Given the description of an element on the screen output the (x, y) to click on. 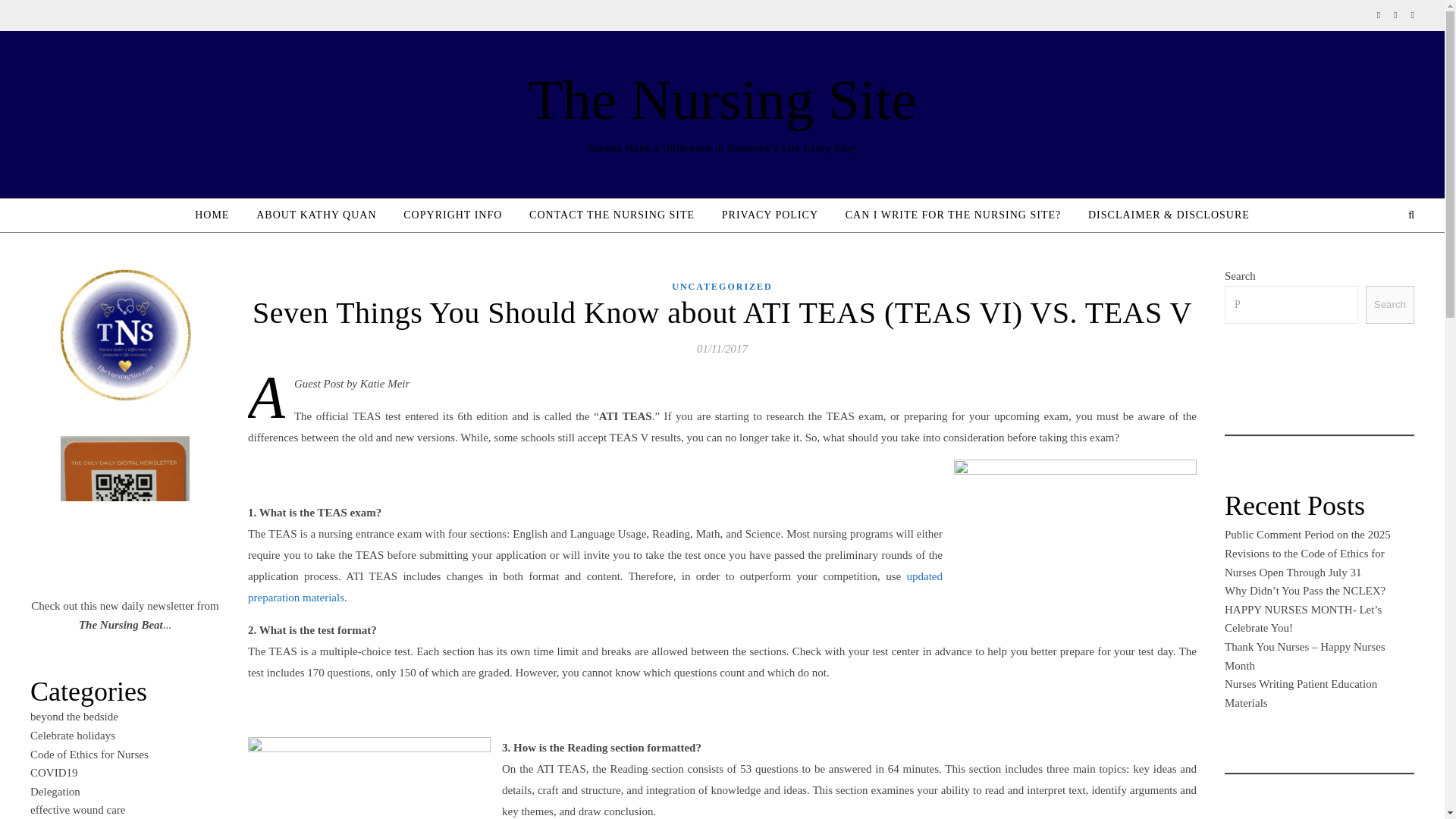
COVID19 (54, 772)
beyond the bedside (73, 716)
CONTACT THE NURSING SITE (611, 215)
COPYRIGHT INFO (452, 215)
CAN I WRITE FOR THE NURSING SITE? (952, 215)
The Nursing Site (721, 99)
Delegation (55, 791)
Celebrate holidays (72, 735)
ABOUT KATHY QUAN (316, 215)
PRIVACY POLICY (769, 215)
